Given the description of an element on the screen output the (x, y) to click on. 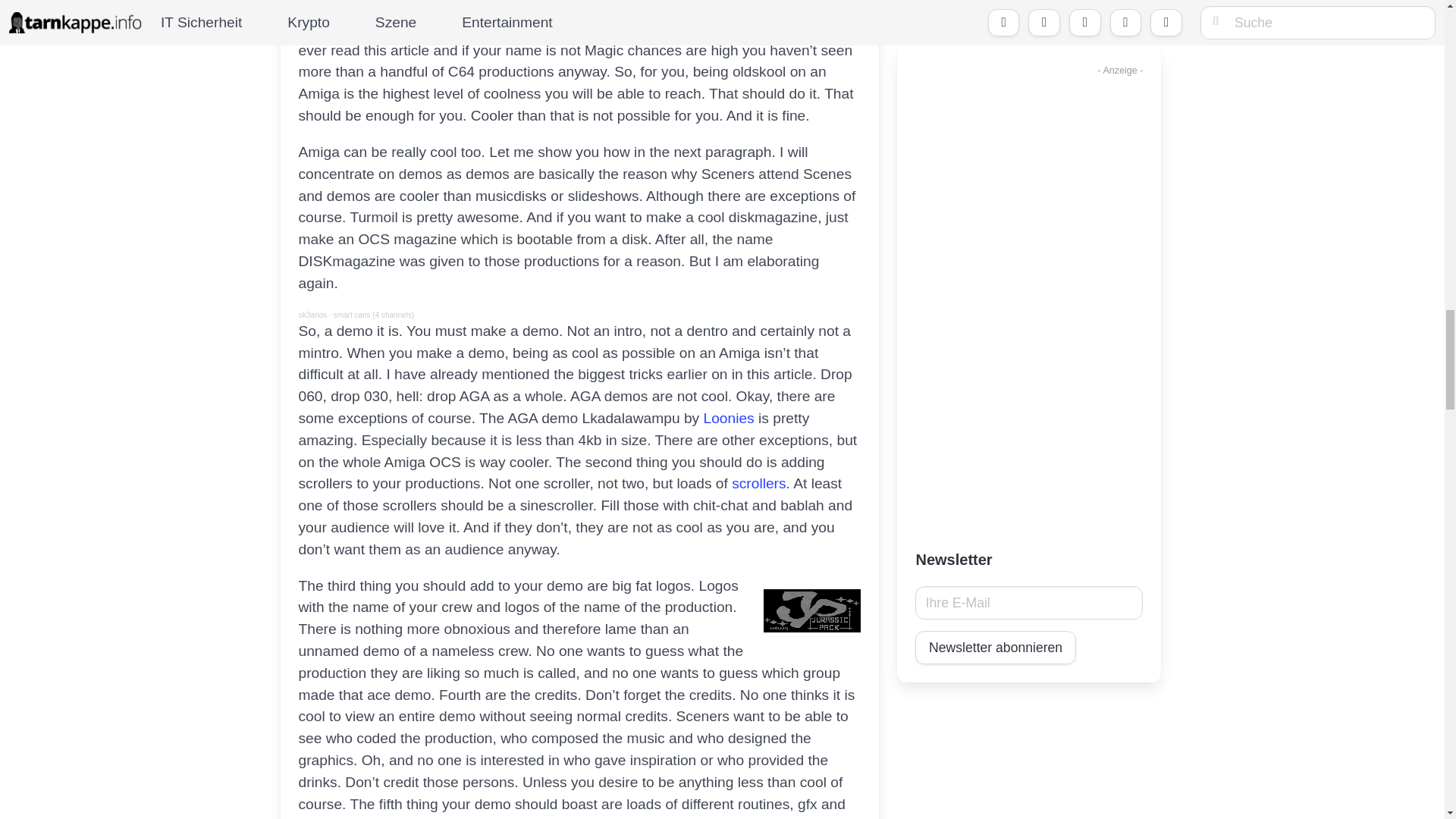
Loonies (728, 417)
www.loonies.dk (728, 417)
scrollers (759, 483)
ok3anos (312, 315)
ok3anos (312, 315)
